Given the description of an element on the screen output the (x, y) to click on. 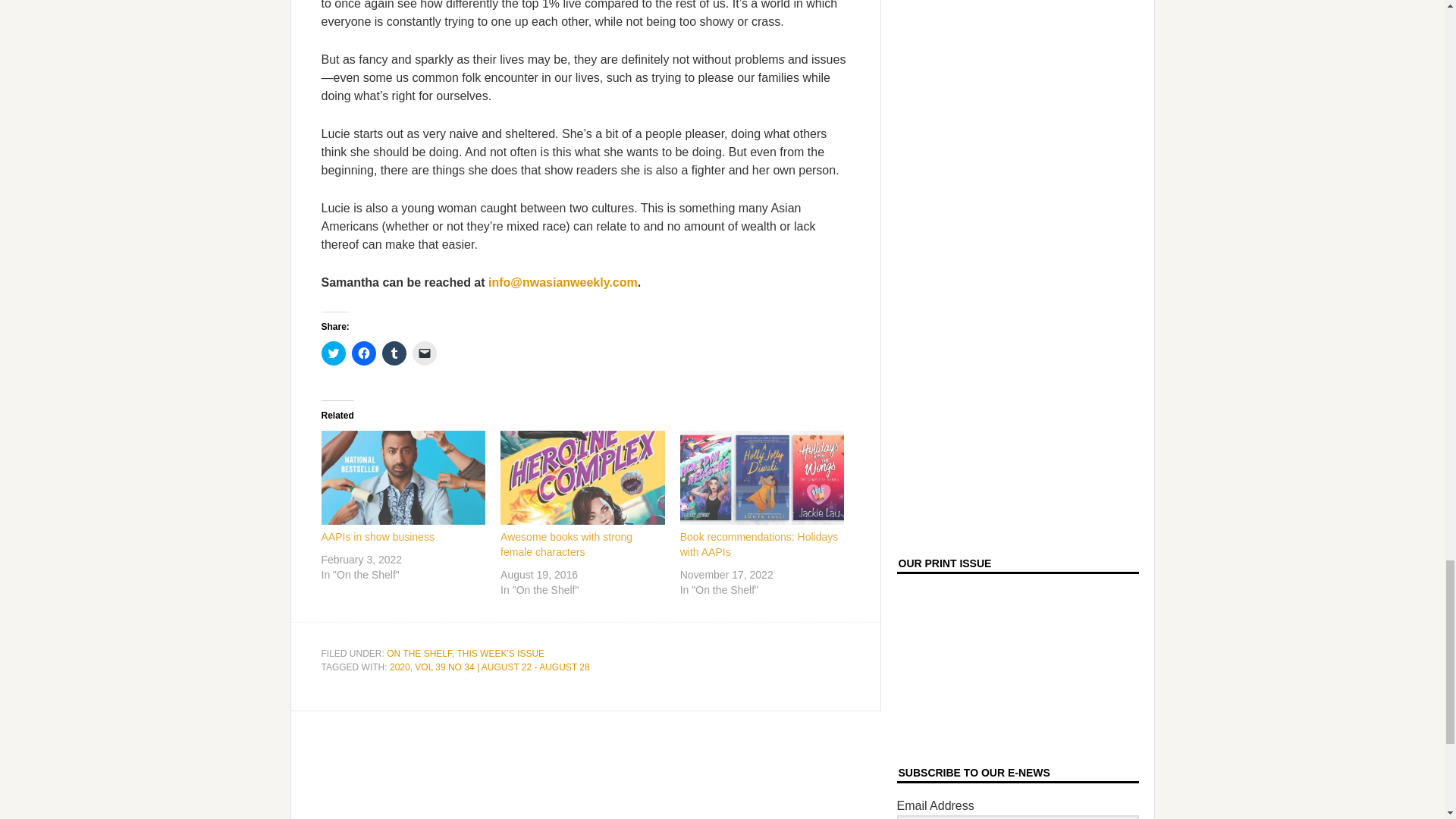
Book recommendations: Holidays with AAPIs (758, 543)
Click to share on Facebook (363, 353)
Awesome books with strong female characters (582, 477)
Click to share on Twitter (333, 353)
AAPIs in show business (377, 536)
Awesome books with strong female characters (565, 543)
Click to email a link to a friend (424, 353)
AAPIs in show business (403, 477)
Book recommendations: Holidays with AAPIs (761, 477)
Click to share on Tumblr (393, 353)
